Given the description of an element on the screen output the (x, y) to click on. 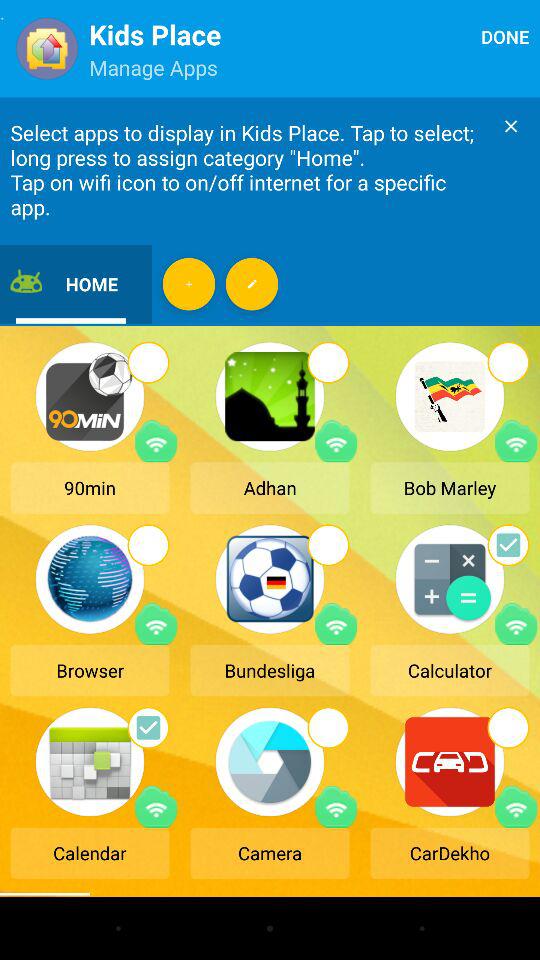
toggle wifi for calculator (516, 624)
